Given the description of an element on the screen output the (x, y) to click on. 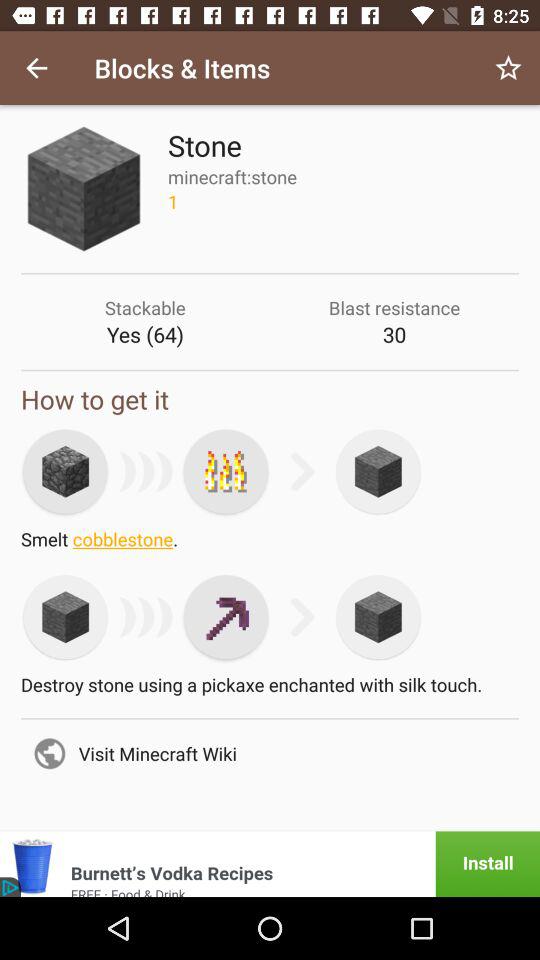
select first stone (65, 471)
